Given the description of an element on the screen output the (x, y) to click on. 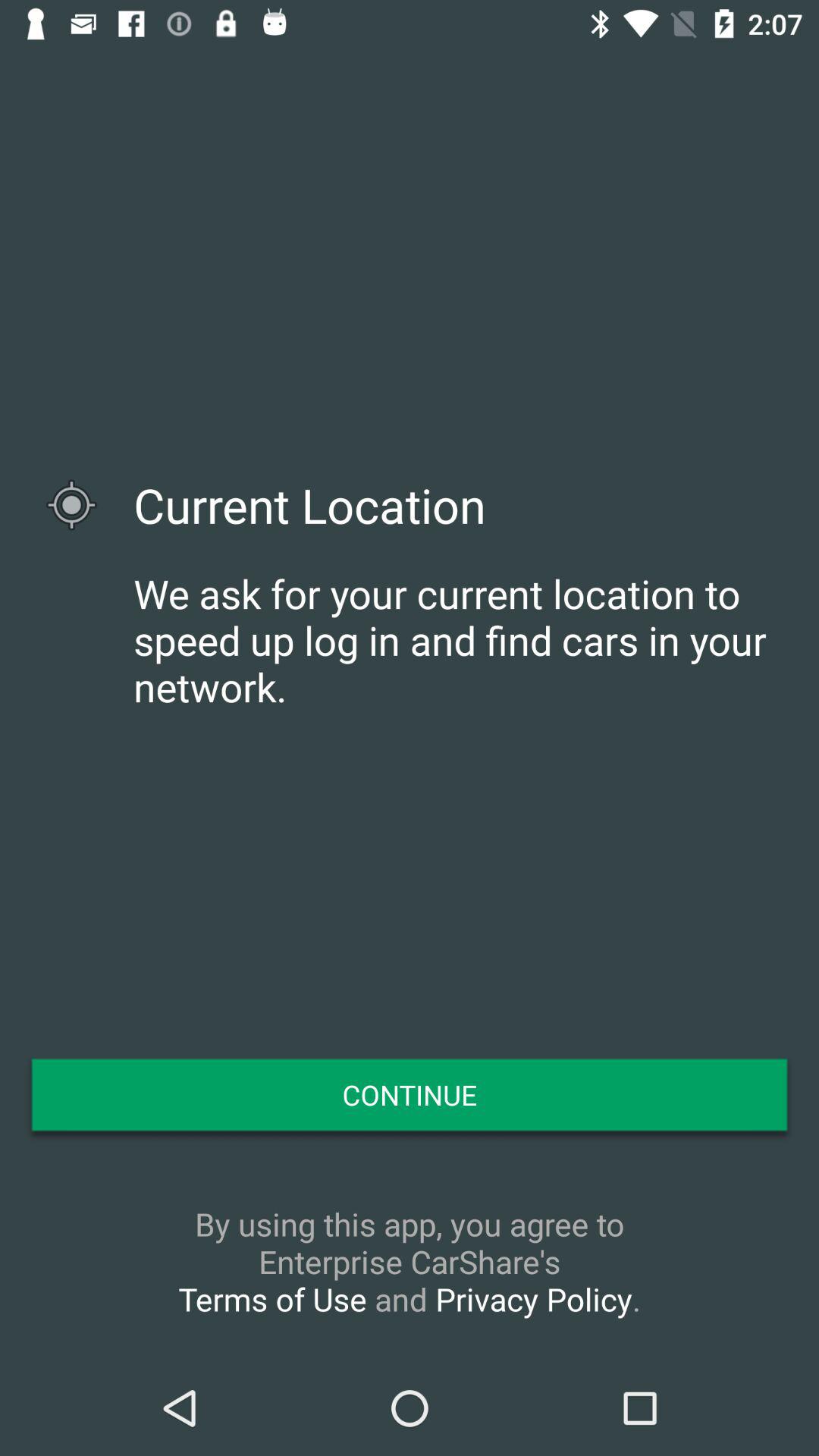
select the continue (409, 1094)
